Given the description of an element on the screen output the (x, y) to click on. 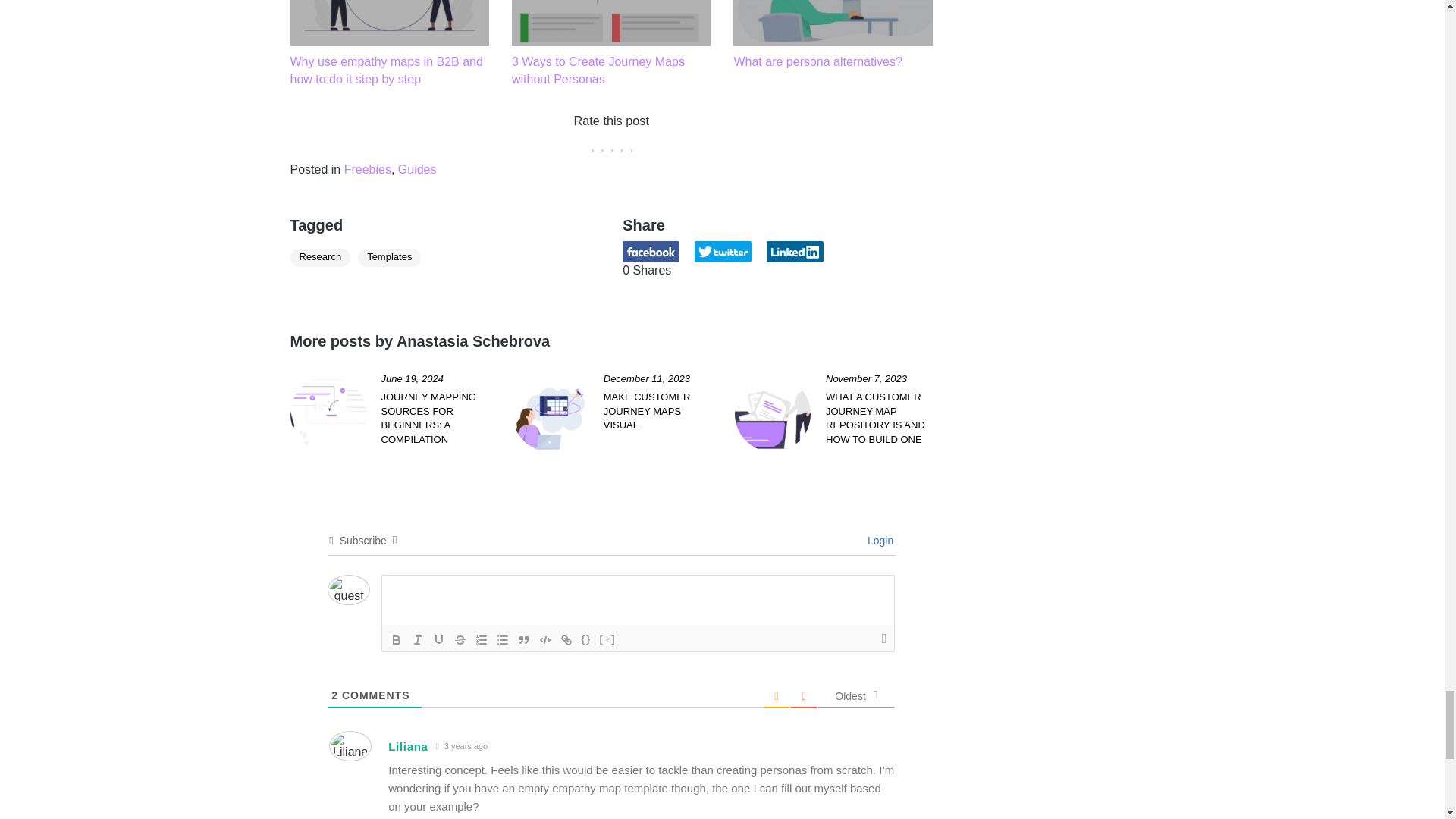
Bold (396, 639)
Blockquote (523, 639)
Strike (459, 639)
Source Code (585, 639)
Underline (438, 639)
Italic (417, 639)
Share the love (651, 251)
Share the love (722, 251)
Unordered List (502, 639)
Share the love (795, 251)
